Given the description of an element on the screen output the (x, y) to click on. 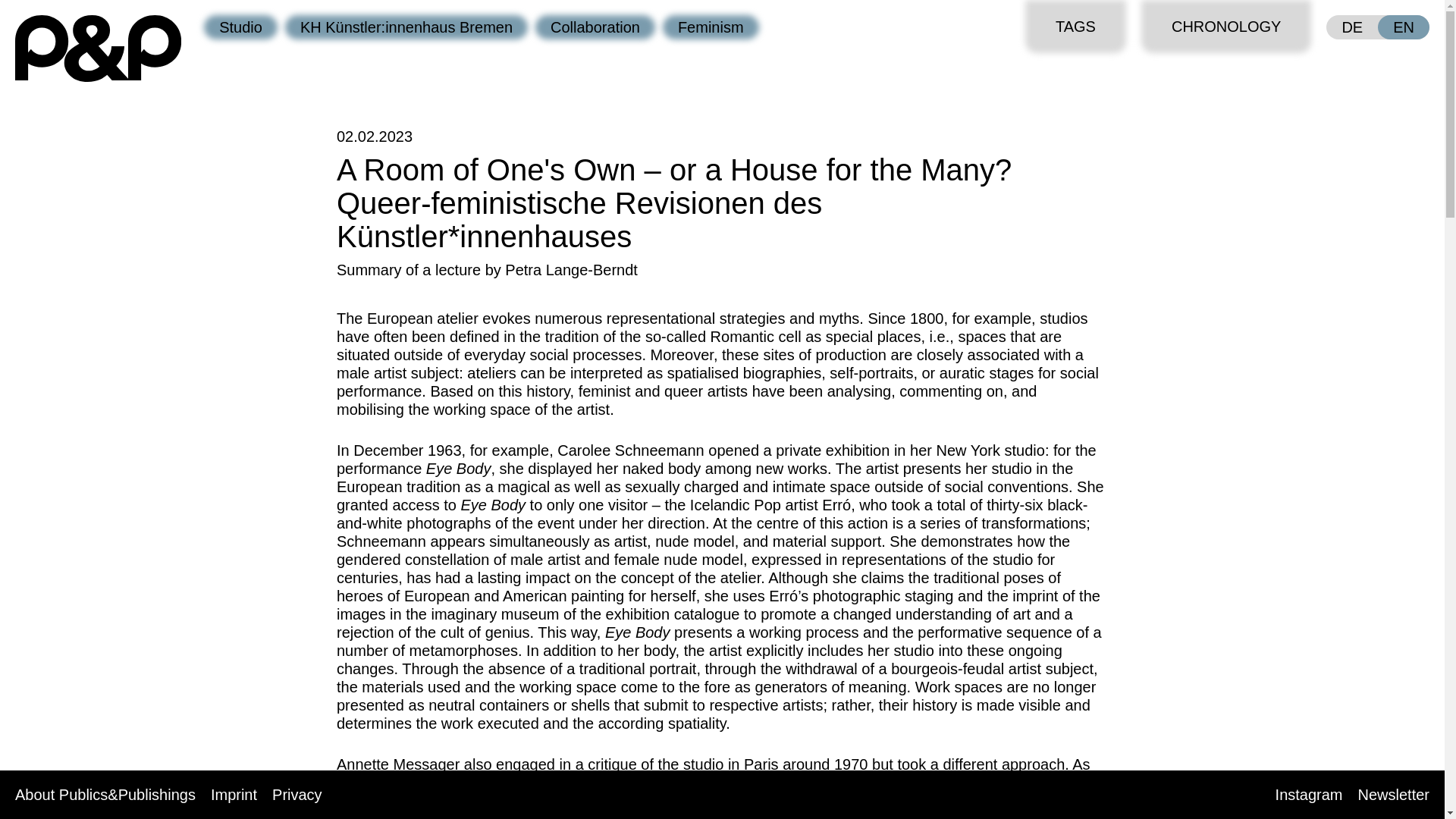
CHRONOLOGY (1226, 26)
Privacy (296, 794)
Instagram (1308, 794)
Feminism (710, 27)
EN (1403, 27)
TAGS (1075, 26)
Imprint (234, 794)
DE (1351, 27)
Newsletter (1393, 794)
Studio (240, 27)
